Given the description of an element on the screen output the (x, y) to click on. 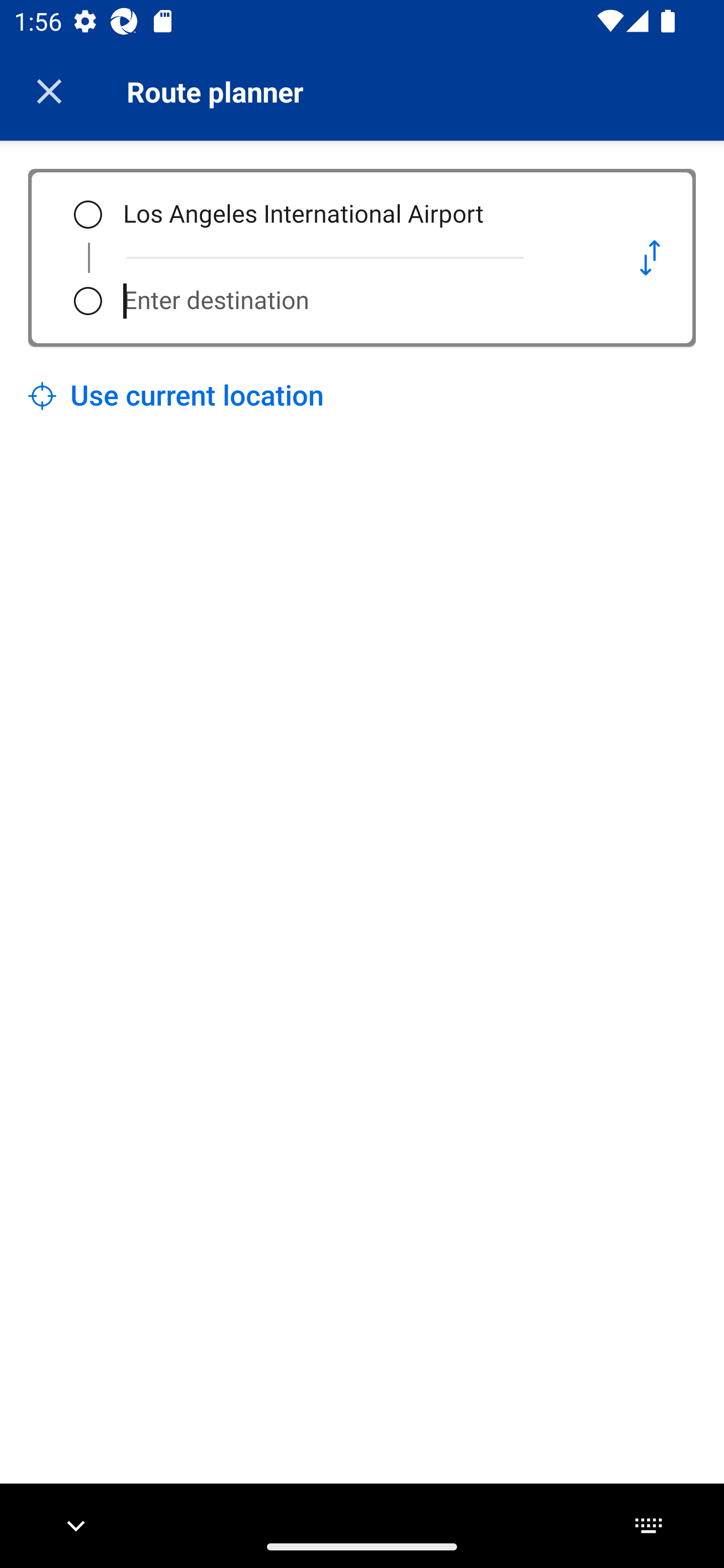
Close (49, 91)
Los Angeles International Airport (355, 214)
Swap pick-up location and destination (650, 257)
Enter destination (355, 300)
Use current location (176, 395)
